Given the description of an element on the screen output the (x, y) to click on. 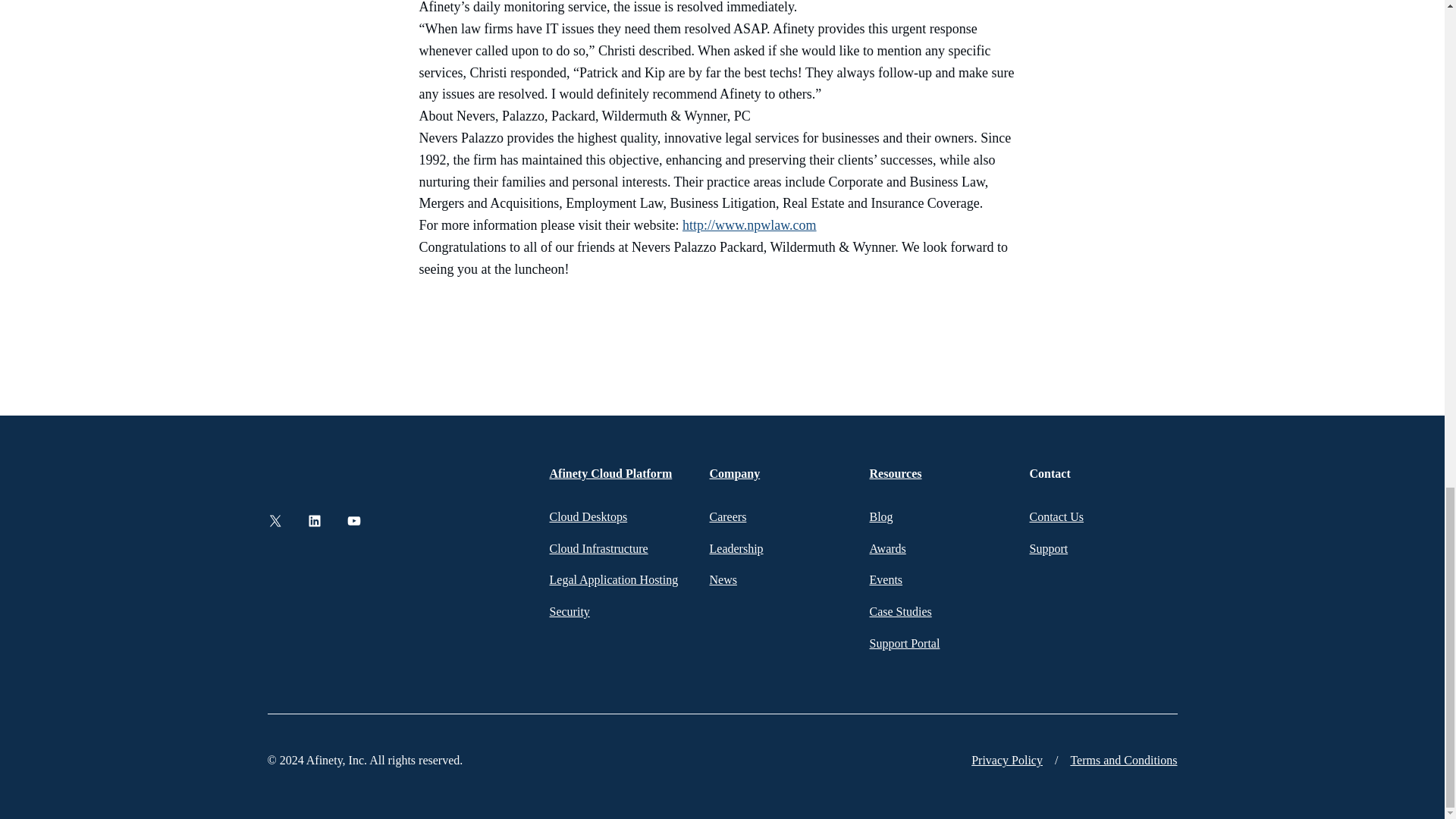
Cloud Infrastructure (597, 548)
Company (735, 472)
YouTube (353, 520)
Blog (880, 516)
LinkedIn (313, 520)
Afinety Cloud Platform (609, 472)
Legal Application Hosting (613, 579)
Security (568, 611)
News (723, 579)
Careers (728, 516)
